Given the description of an element on the screen output the (x, y) to click on. 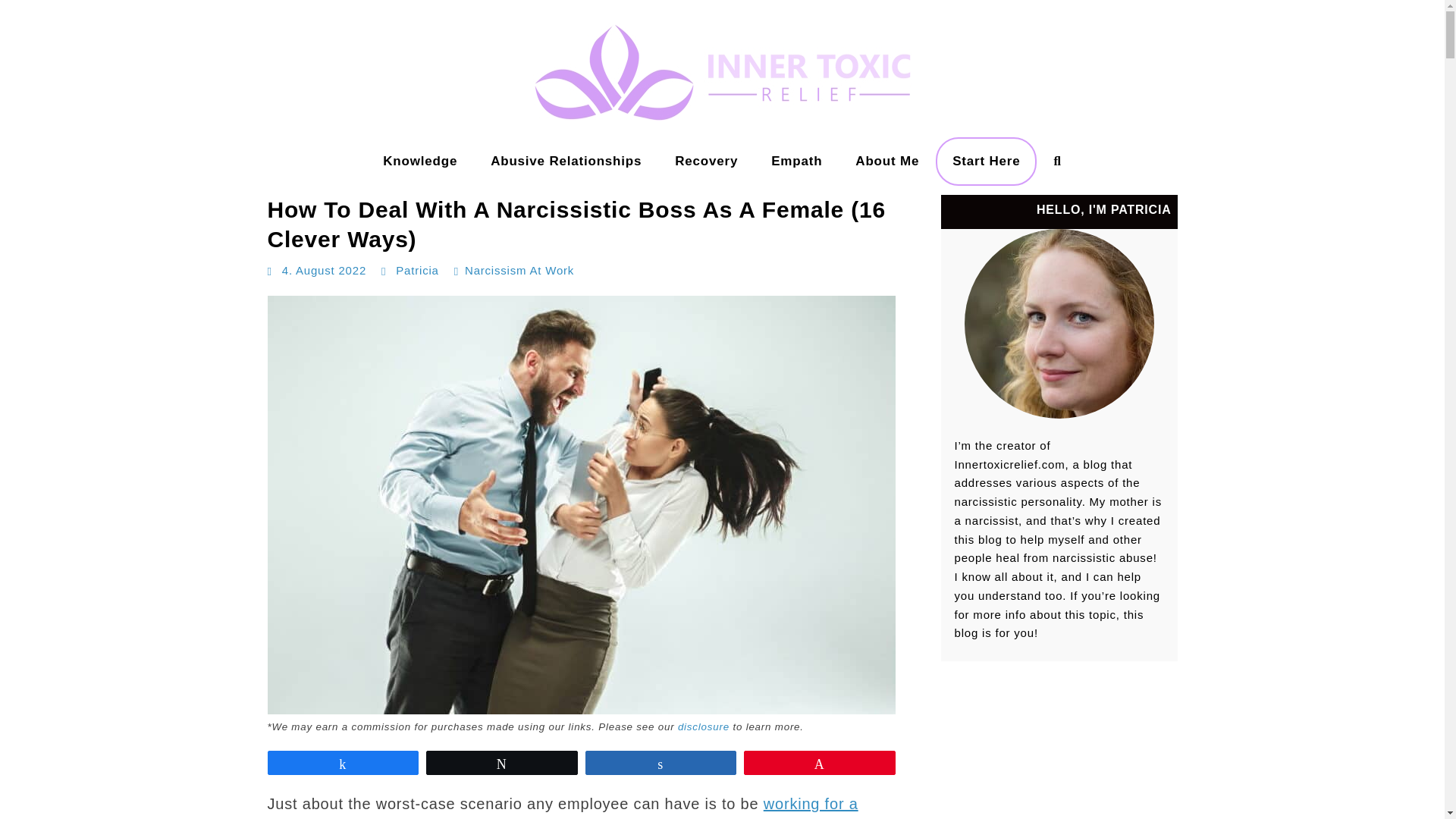
Recovery (706, 161)
Empath (796, 161)
Abusive Relationships (566, 161)
Inner Toxic Relief (68, 176)
Knowledge (420, 161)
